Given the description of an element on the screen output the (x, y) to click on. 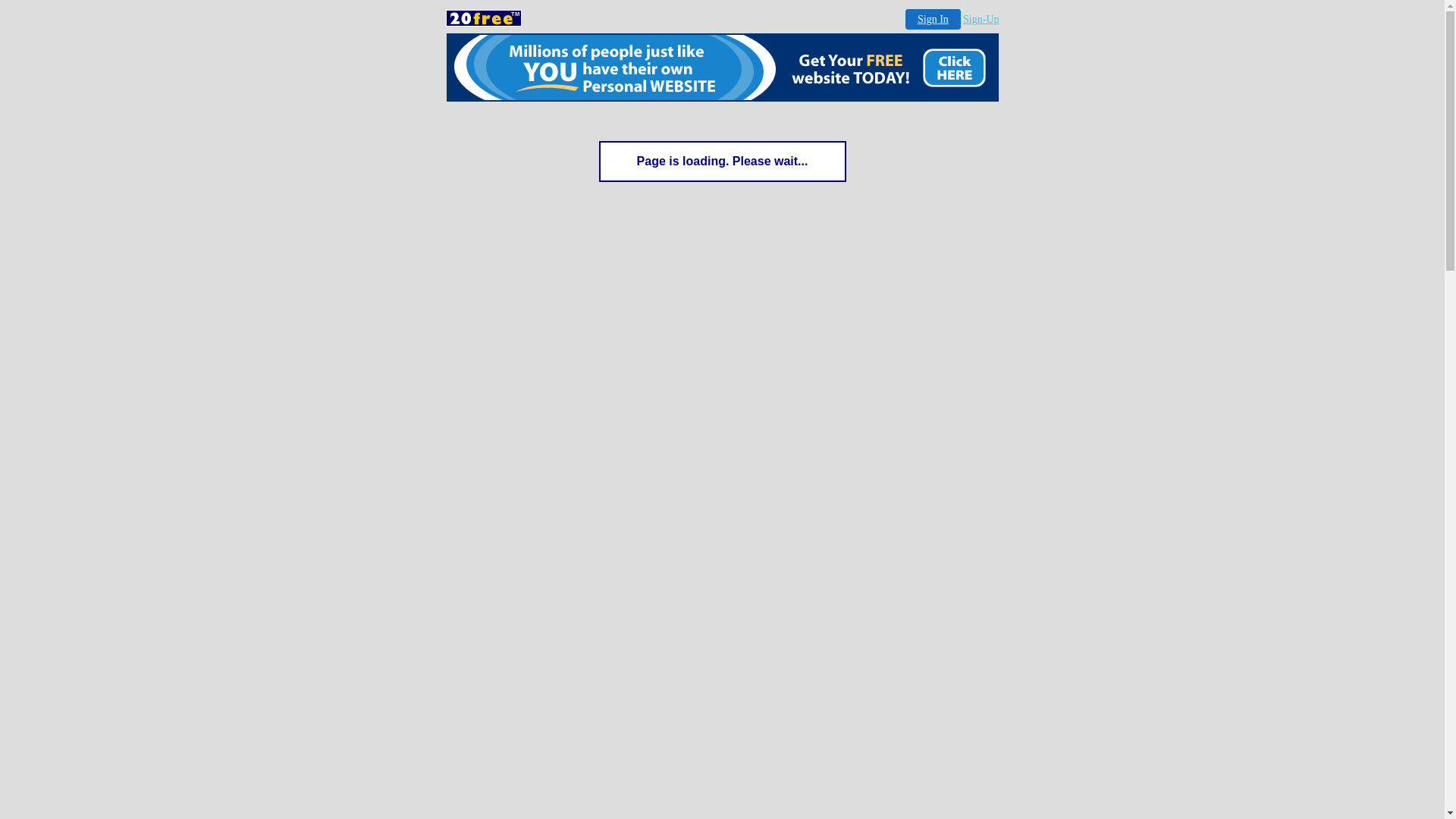
Sign-Up Element type: text (980, 19)
Sign In Element type: text (932, 19)
